Given the description of an element on the screen output the (x, y) to click on. 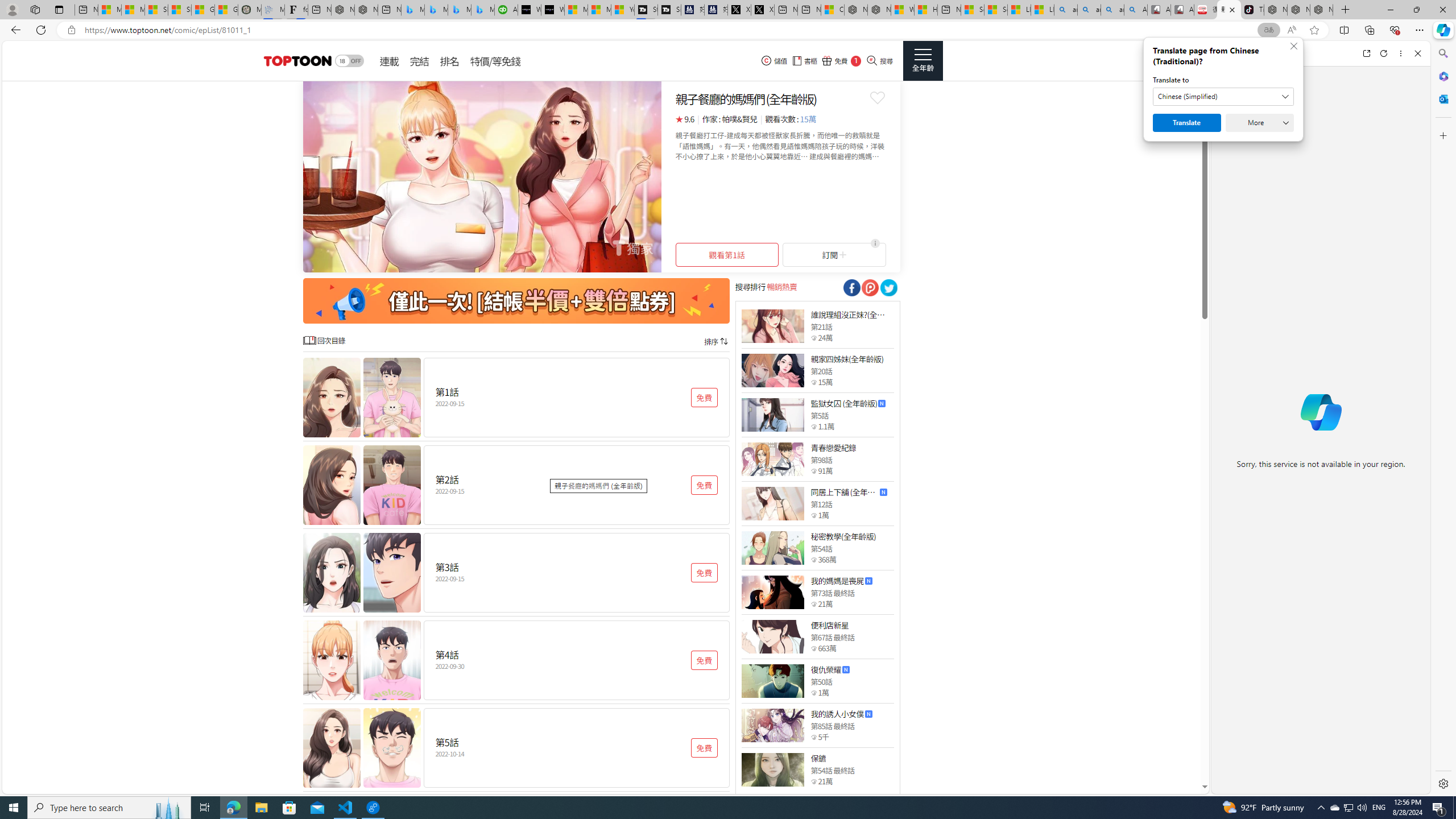
Wildlife - MSN (902, 9)
Class: swiper-slide (481, 176)
Nordace Siena Pro 15 Backpack (1298, 9)
What's the best AI voice generator? - voice.ai (552, 9)
App bar (728, 29)
header (295, 60)
Translate (1187, 122)
